Given the description of an element on the screen output the (x, y) to click on. 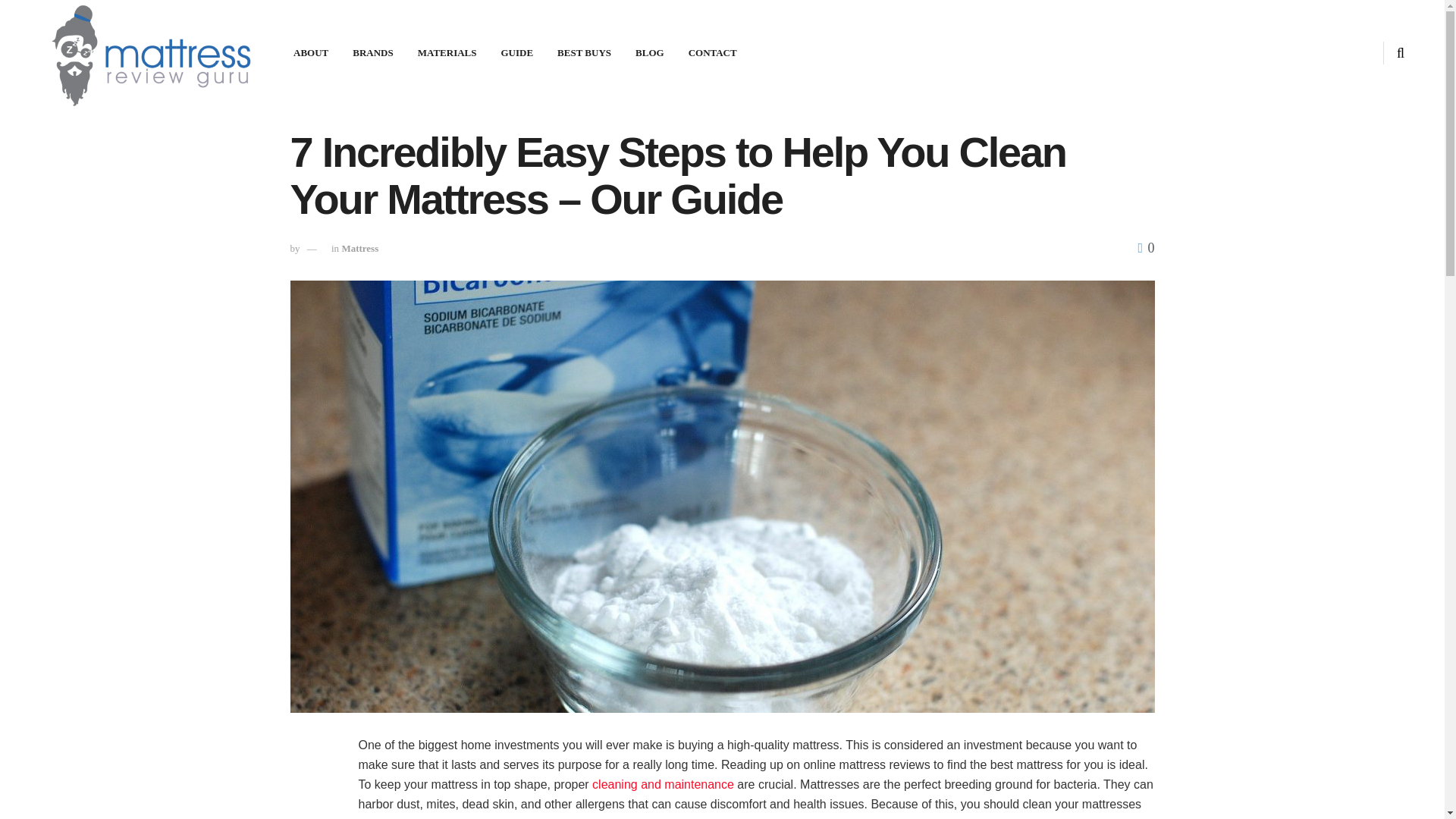
BEST BUYS (583, 53)
choose the right mattress (565, 818)
cleaning and maintenance (662, 784)
BLOG (650, 53)
ABOUT (310, 53)
0 (1145, 247)
Mattress (359, 247)
MATERIALS (447, 53)
GUIDE (515, 53)
CONTACT (713, 53)
BRANDS (372, 53)
